Given the description of an element on the screen output the (x, y) to click on. 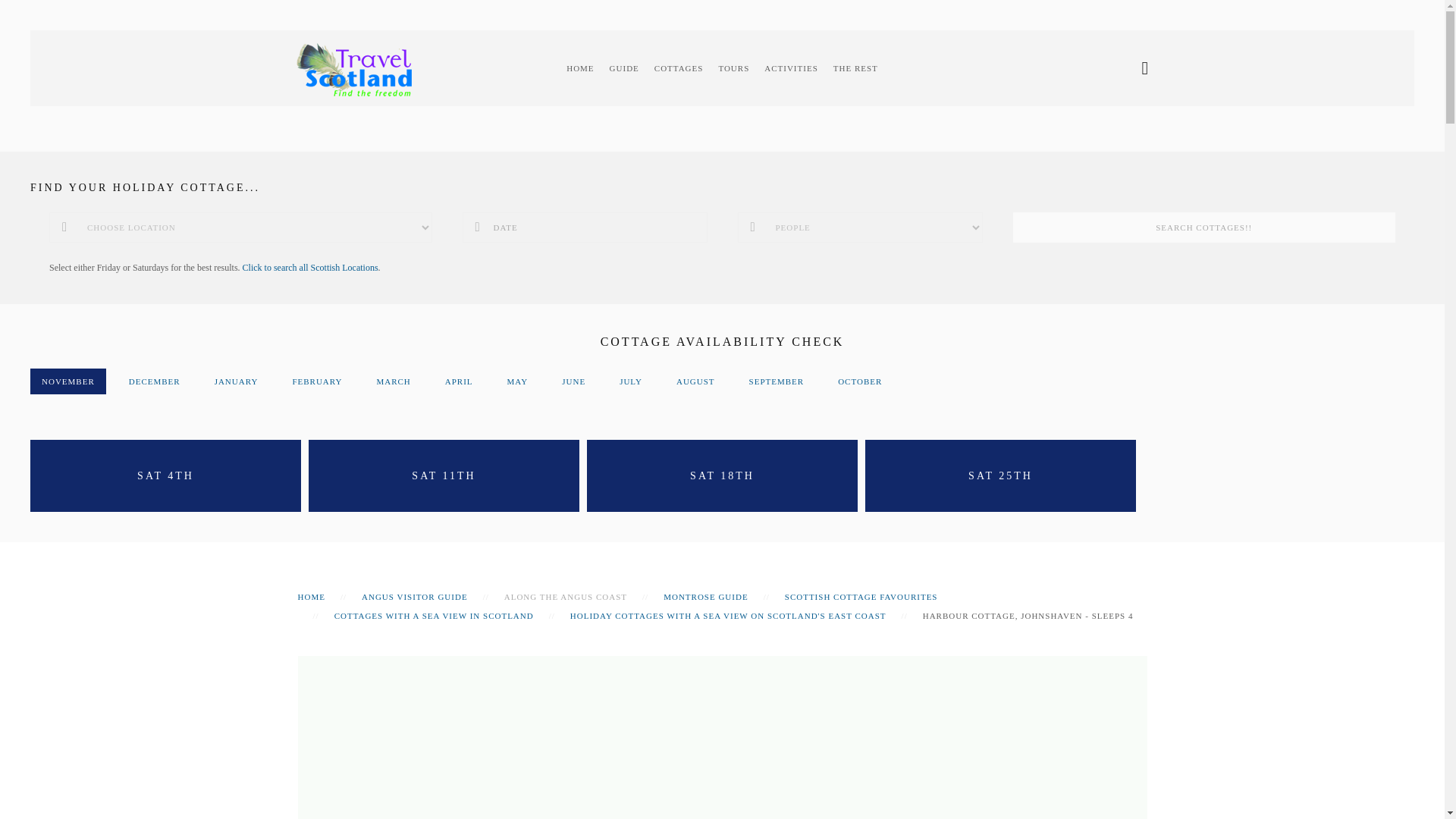
Sat 11th (443, 475)
Sat 4th (165, 475)
SAT 4TH (165, 475)
TOURS (733, 68)
HOME (580, 68)
SAT 11TH (443, 475)
Sat 18th (721, 475)
GUIDE (624, 68)
All Cottages Search (310, 267)
Sat 25th (999, 475)
COTTAGES (678, 68)
SAT 18TH (721, 475)
SAT 25TH (999, 475)
